Given the description of an element on the screen output the (x, y) to click on. 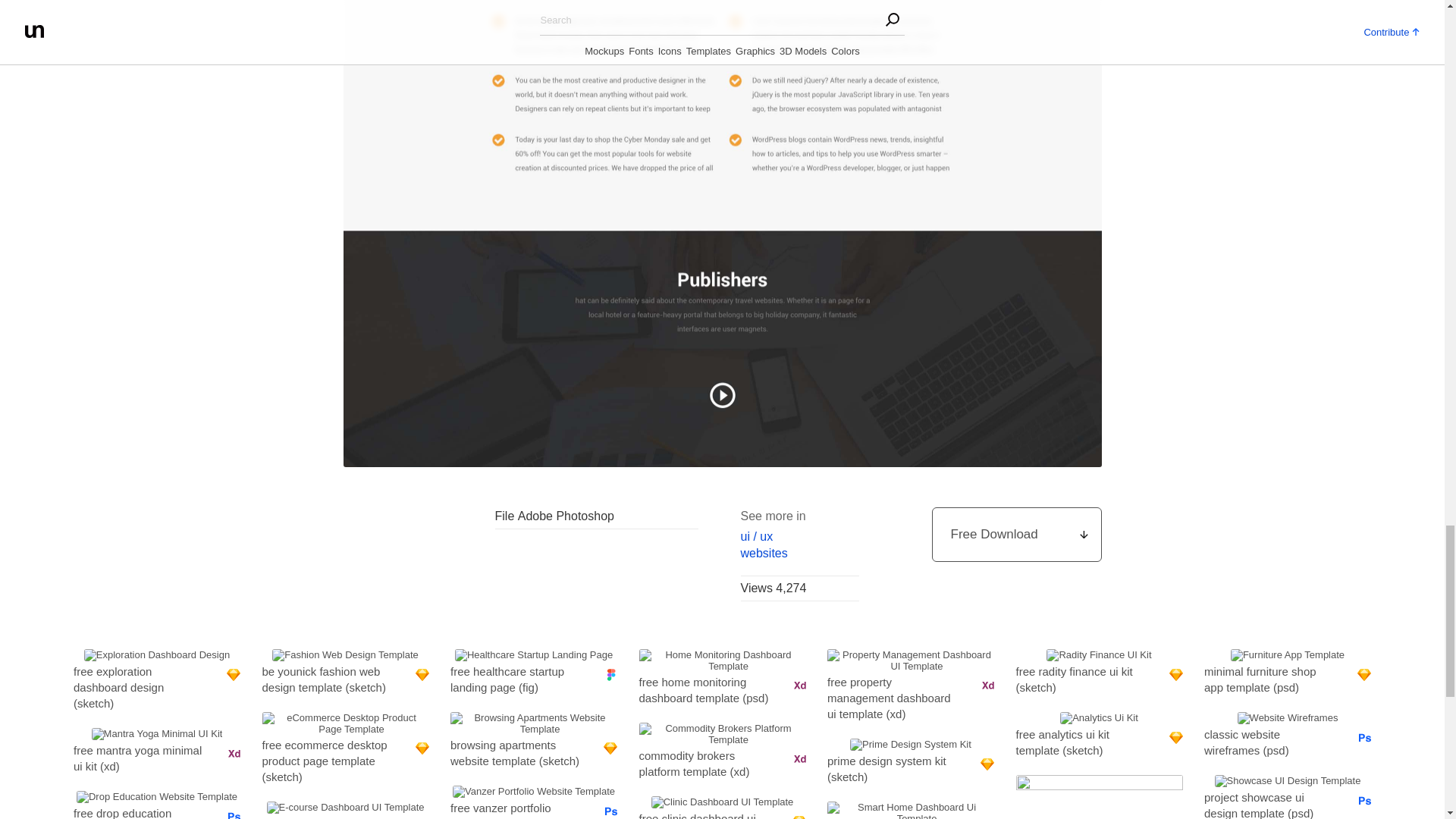
Free Download (1015, 533)
websites (799, 553)
